Given the description of an element on the screen output the (x, y) to click on. 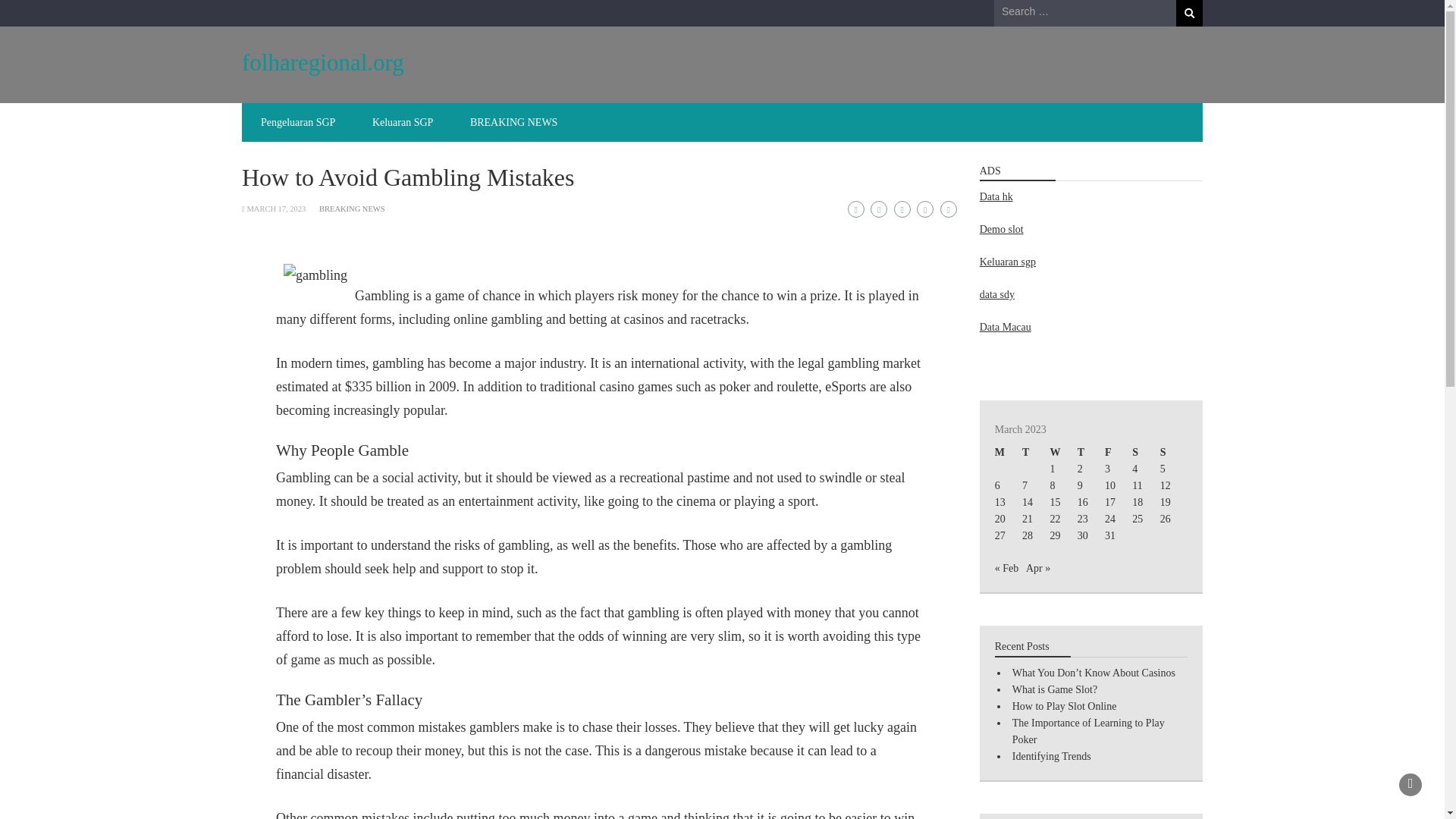
1 (1051, 469)
11 (1136, 485)
8 (1051, 485)
13 (1000, 501)
Saturday (1145, 452)
7 (1024, 485)
Monday (1008, 452)
data sdy (996, 294)
6 (997, 485)
folharegional.org (322, 62)
5 (1163, 469)
Sunday (1174, 452)
Keluaran sgp (1007, 261)
4 (1134, 469)
2 (1080, 469)
